Given the description of an element on the screen output the (x, y) to click on. 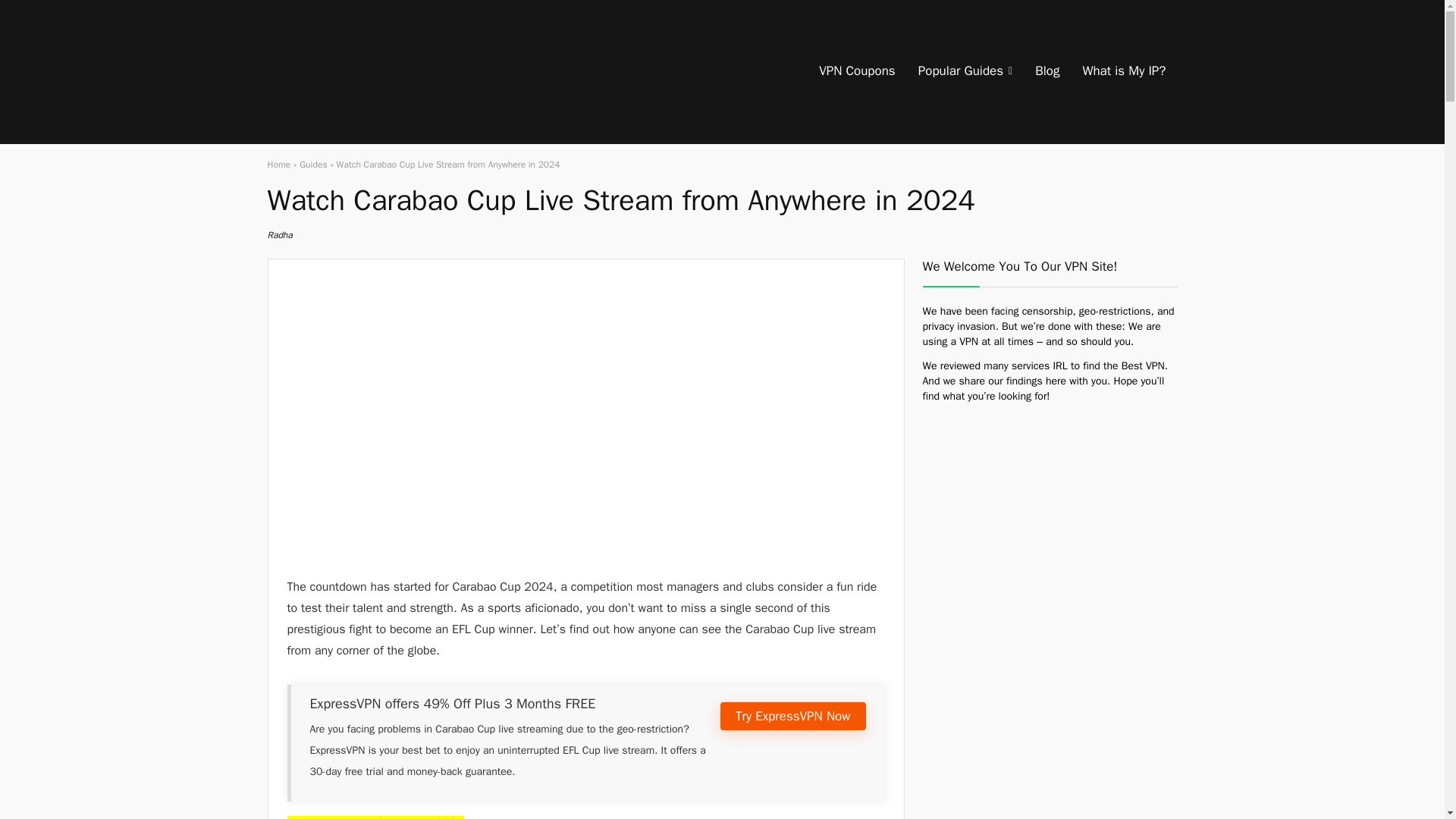
Guides (312, 164)
Try ExpressVPN Now (792, 715)
Home (277, 164)
VPN Coupons (857, 71)
Popular Guides (965, 71)
What is My IP? (1123, 71)
Radha (279, 234)
Blog (1046, 71)
